Given the description of an element on the screen output the (x, y) to click on. 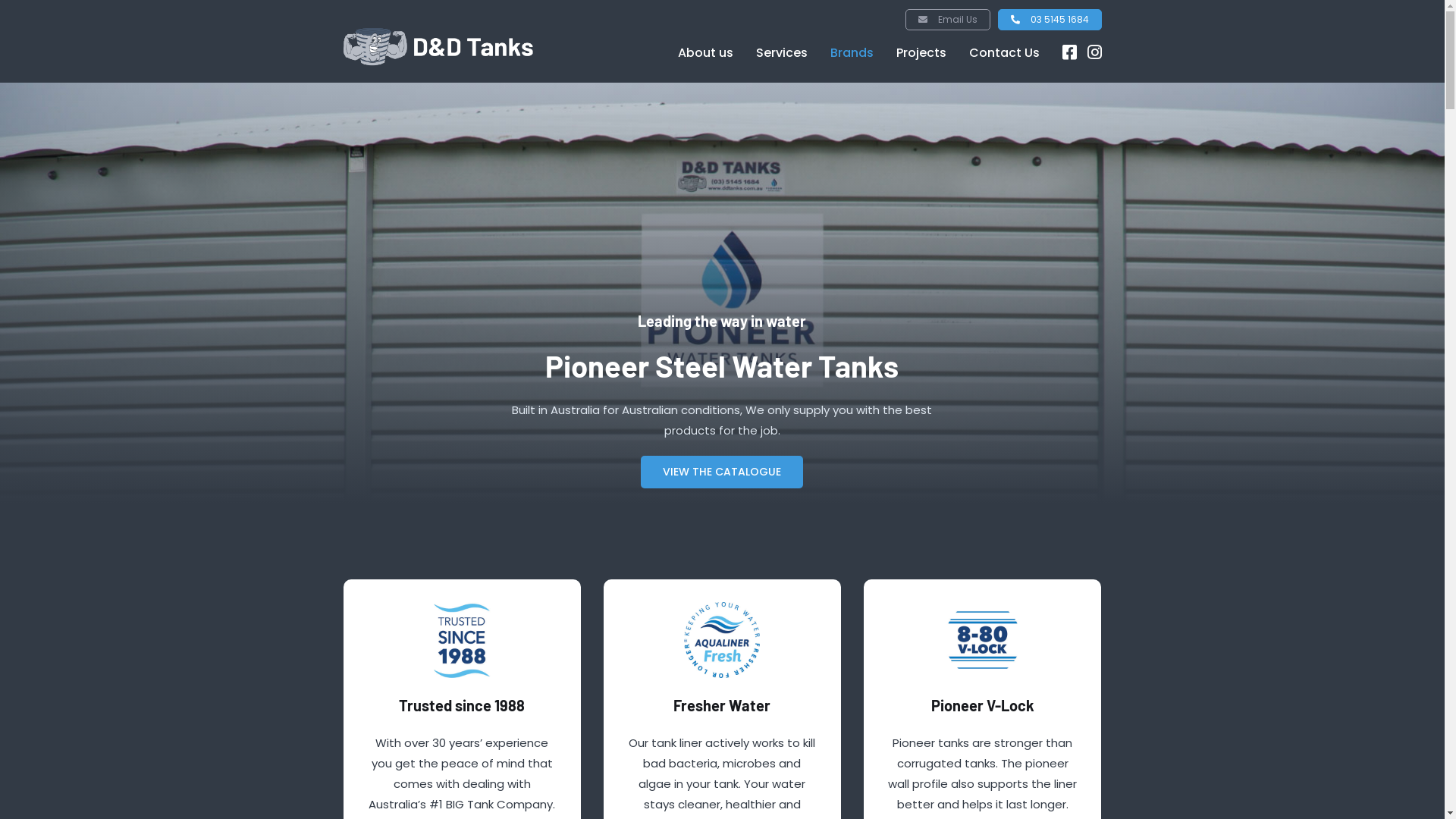
DD-Tanks_Icons-PioneerArtboard-1 Element type: hover (461, 639)
DD-Tanks_Icons-PioneerArtboard-3 Element type: hover (982, 639)
Email Us Element type: text (947, 19)
03 5145 1684 Element type: text (1049, 19)
Services Element type: text (780, 52)
DD-Tanks_Icons-PioneerArtboard-2 Element type: hover (721, 639)
VIEW THE CATALOGUE Element type: text (721, 471)
About us Element type: text (705, 52)
Projects Element type: text (921, 52)
Brands Element type: text (850, 52)
Contact Us Element type: text (1004, 52)
